Given the description of an element on the screen output the (x, y) to click on. 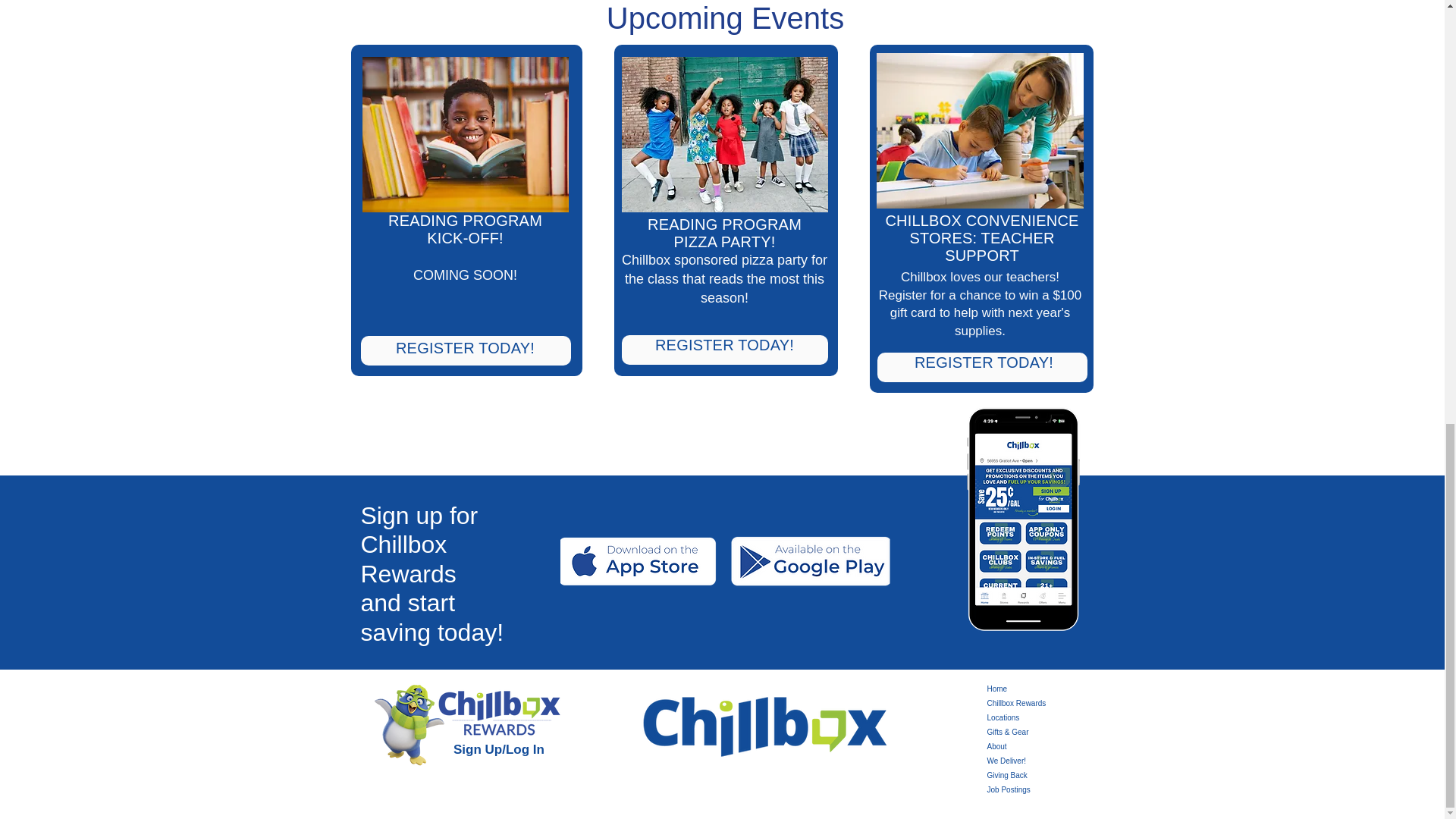
REGISTER TODAY! (465, 347)
Upcoming Events (725, 19)
REGISTER TODAY! (724, 344)
REGISTER TODAY! (983, 362)
